Given the description of an element on the screen output the (x, y) to click on. 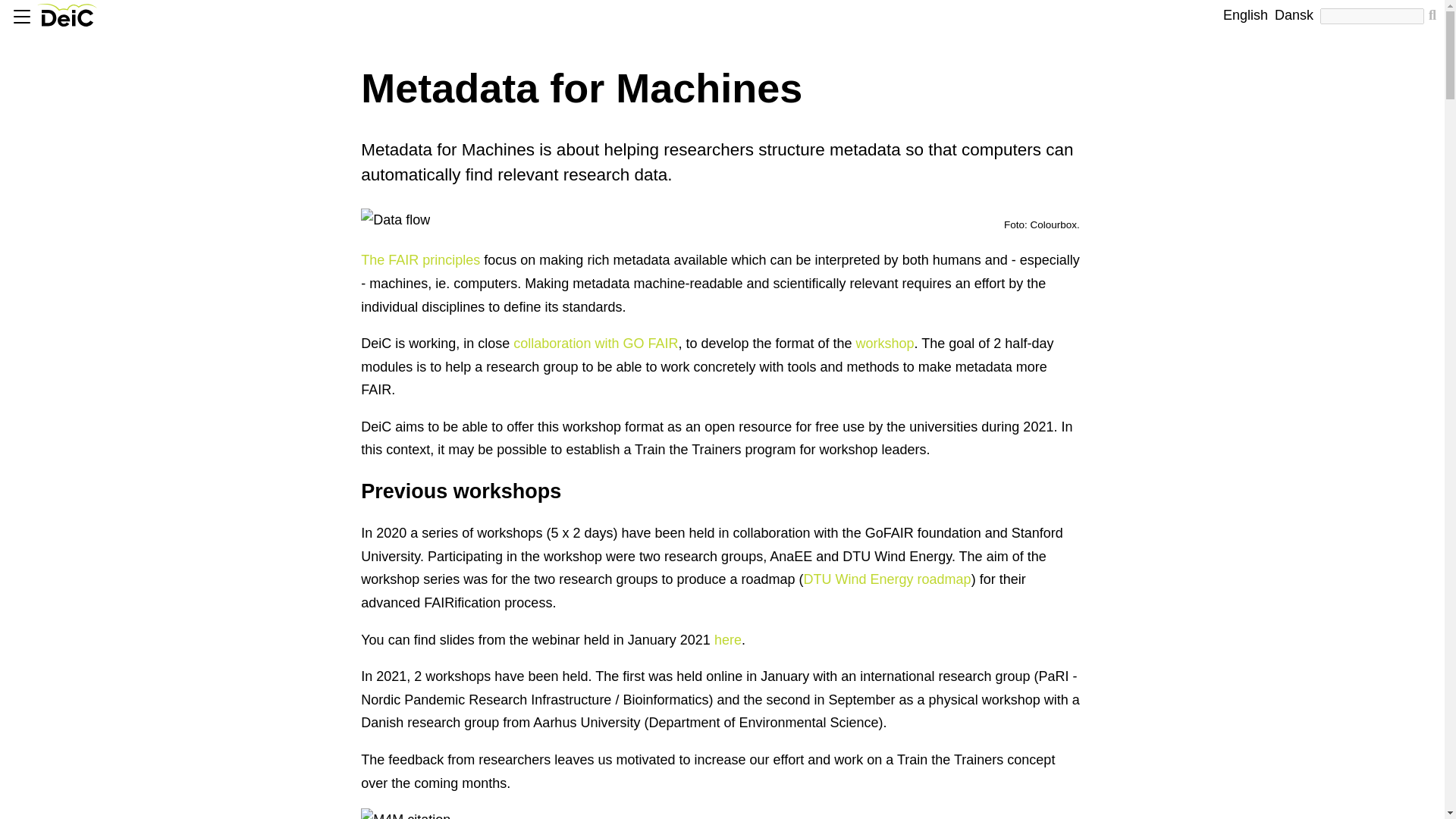
workshop (885, 343)
Menu (20, 17)
Enter the terms you wish to search for. (1371, 16)
DTU Wind Energy roadmap (887, 579)
here (727, 639)
English (1245, 14)
Dansk (1294, 14)
collaboration with GO FAIR (595, 343)
The FAIR principles (420, 259)
